Given the description of an element on the screen output the (x, y) to click on. 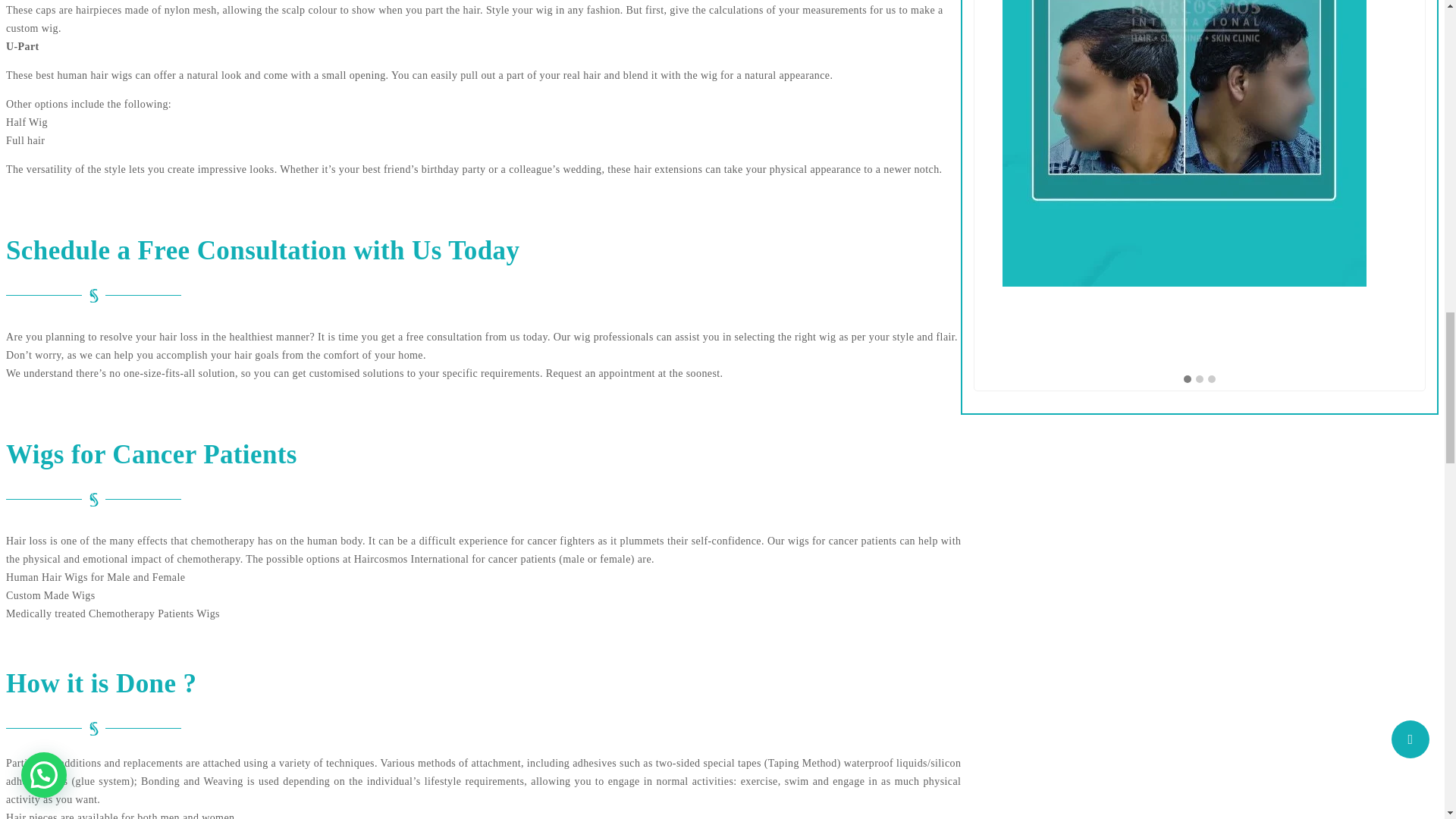
line-title (92, 295)
line-title (92, 499)
line-title (92, 728)
